Given the description of an element on the screen output the (x, y) to click on. 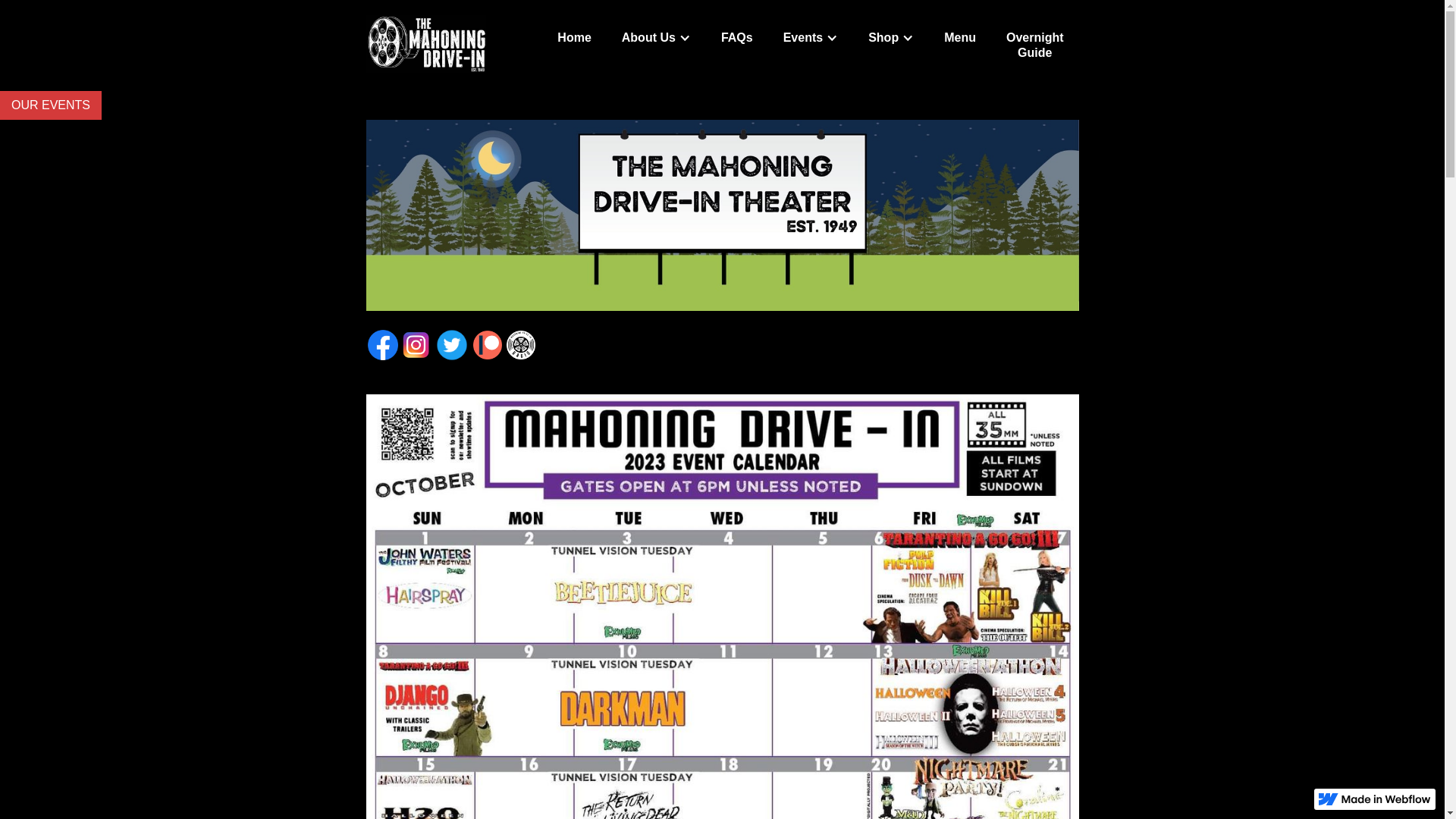
Menu (959, 37)
FAQs (1034, 45)
OUR EVENTS (737, 37)
Home (50, 104)
